Given the description of an element on the screen output the (x, y) to click on. 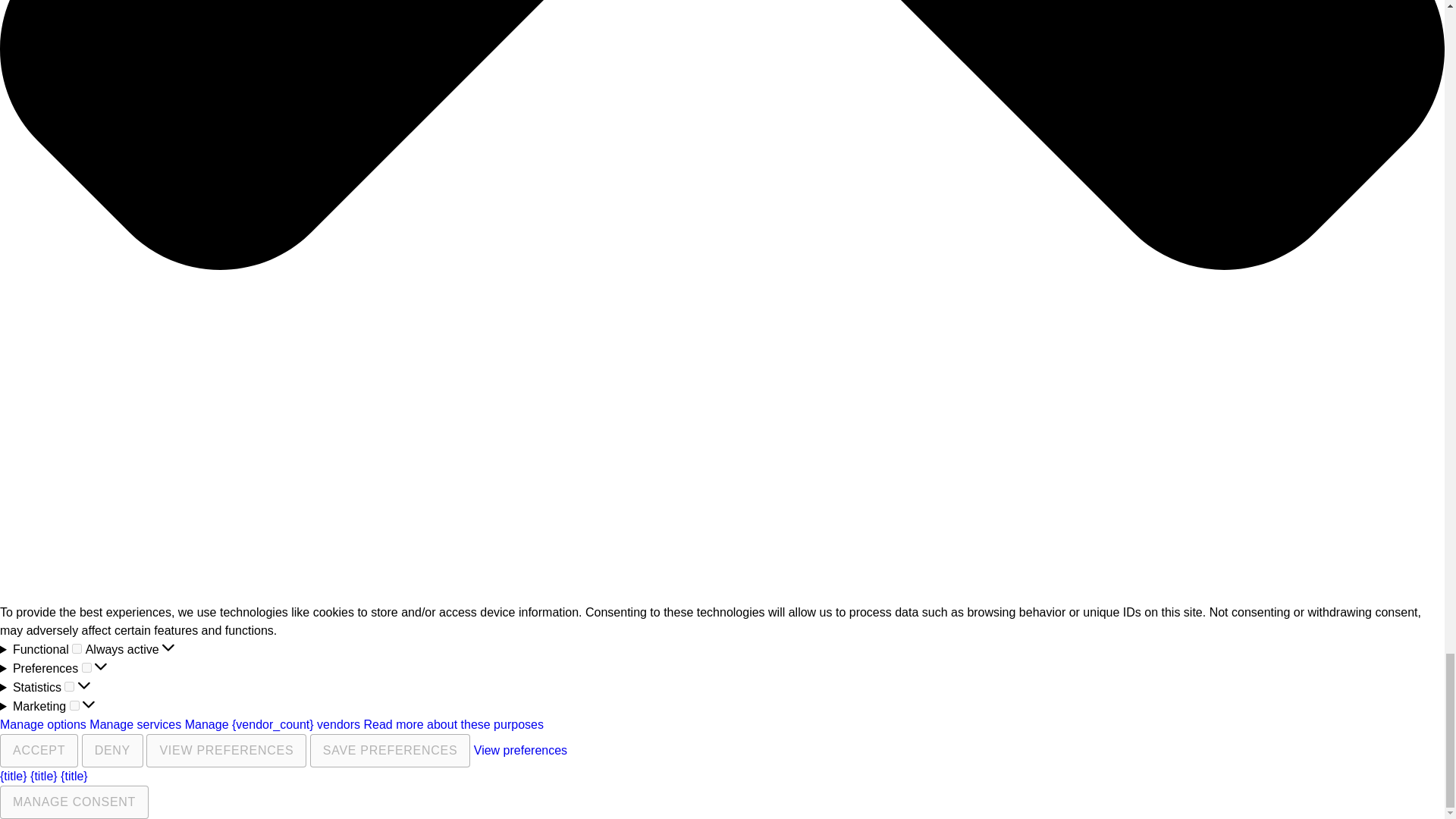
1 (69, 686)
1 (86, 667)
1 (74, 705)
1 (76, 648)
